Given the description of an element on the screen output the (x, y) to click on. 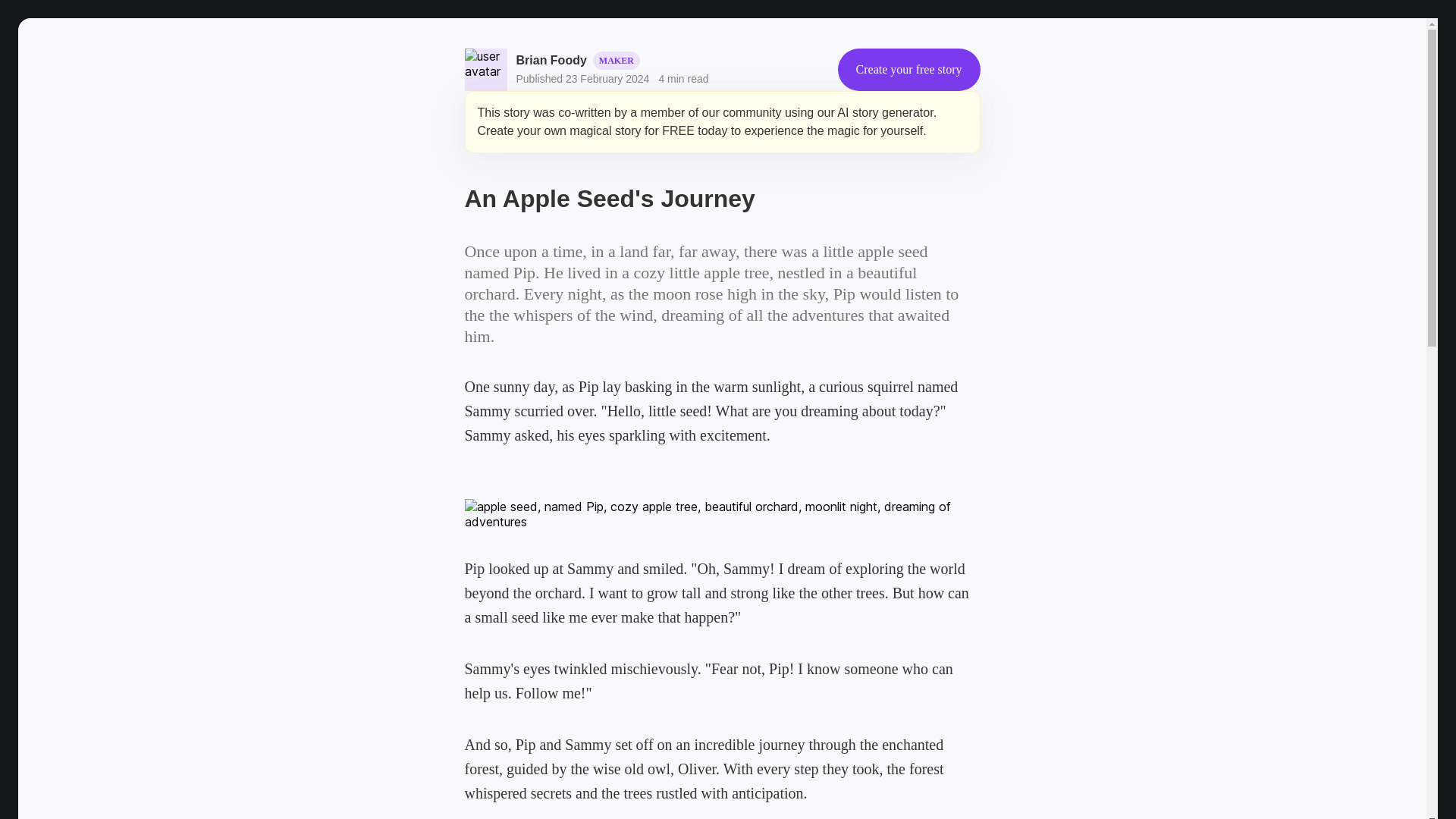
Create your free story (908, 69)
